Given the description of an element on the screen output the (x, y) to click on. 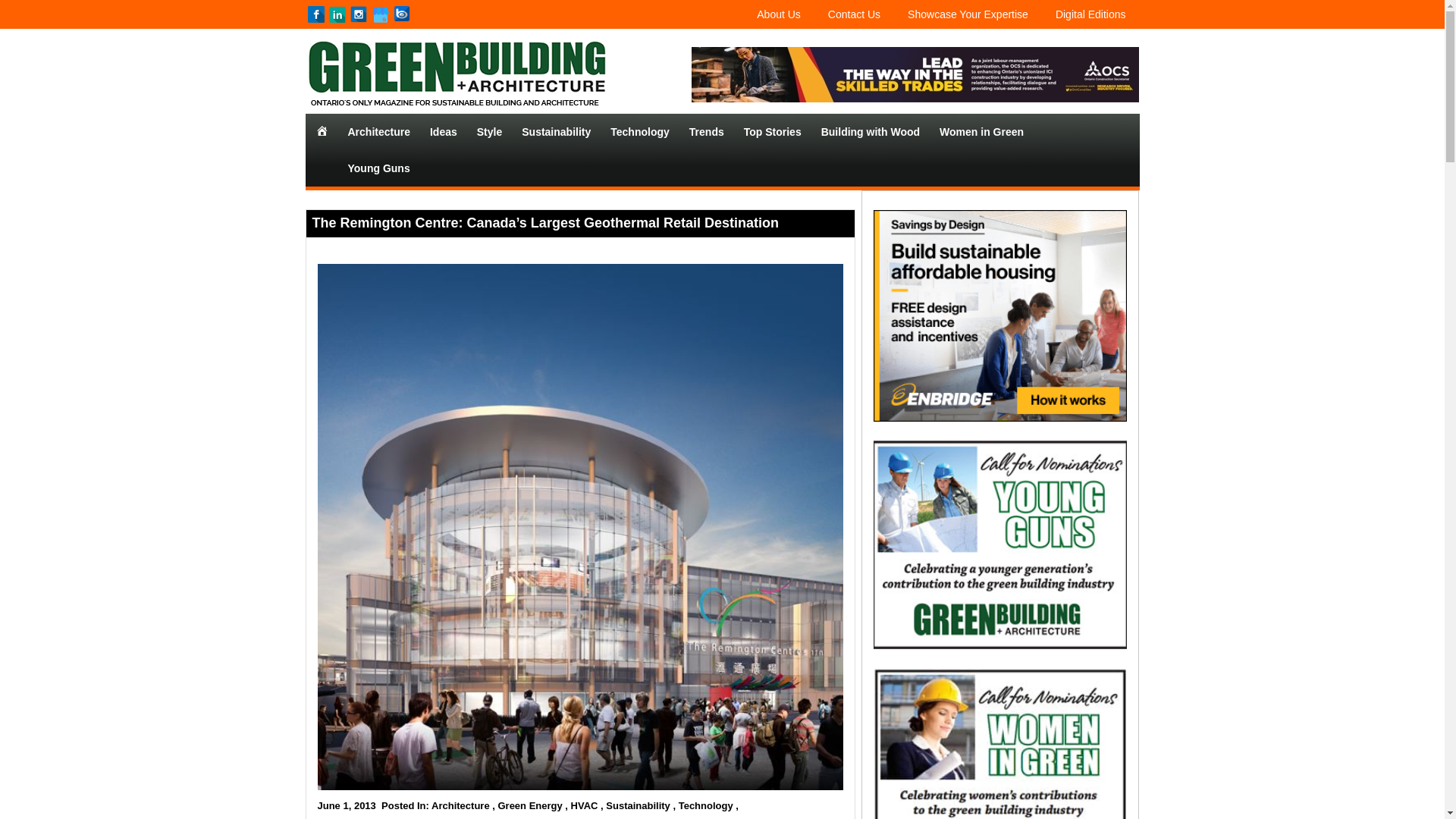
Digital Editions (1091, 14)
Technology , (708, 805)
Young Guns (378, 167)
Contact Us (853, 14)
Architecture , (462, 805)
Sustainability (555, 131)
